Given the description of an element on the screen output the (x, y) to click on. 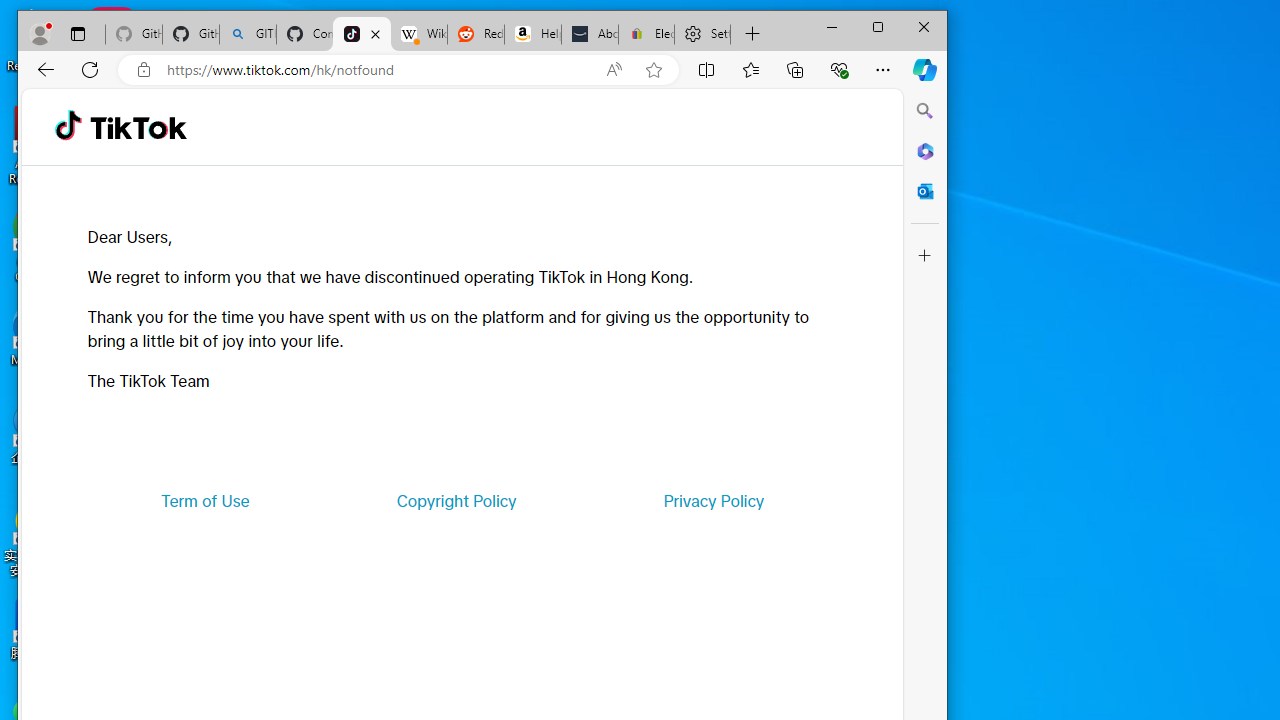
Reddit - Dive into anything (476, 34)
Term of Use (205, 500)
